Given the description of an element on the screen output the (x, y) to click on. 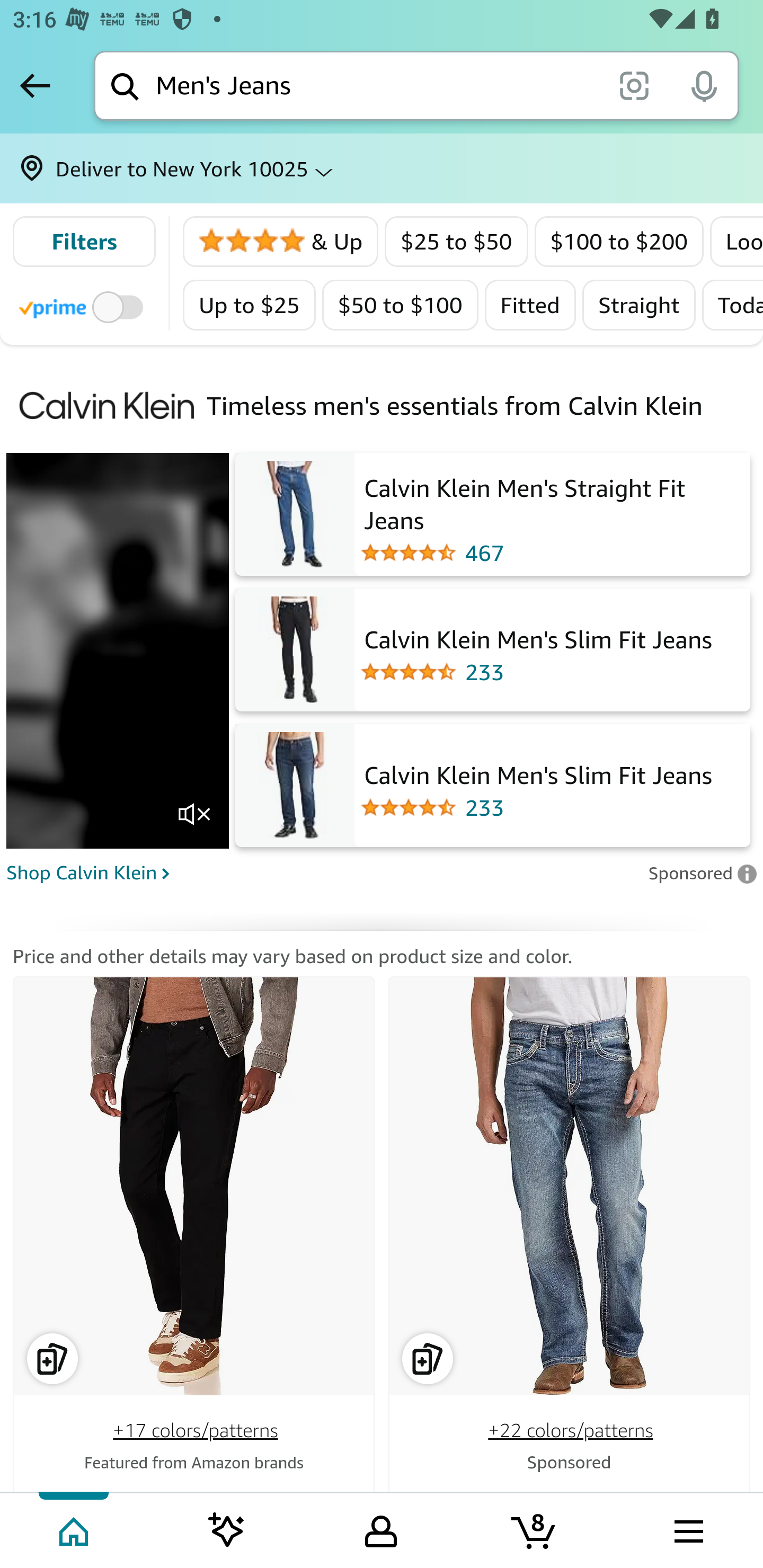
Back (35, 85)
scan it (633, 85)
Deliver to New York 10025 ⌵ (381, 168)
Filters (83, 241)
4 Stars & Up (281, 241)
$25 to $50 (456, 241)
$100 to $200 (619, 241)
Toggle to filter by Prime products Prime Eligible (83, 306)
Up to $25 (249, 304)
$50 to $100 (399, 304)
Fitted (529, 304)
Straight (638, 304)
Timeless men's essentials from Calvin Klein (455, 404)
Calvin Klein Men's Straight Fit Jeans (551, 501)
467 (551, 552)
Calvin Klein Men's Slim Fit Jeans (535, 637)
233 (535, 672)
Calvin Klein Men's Slim Fit Jeans (535, 772)
Mute Sponsored Video (193, 814)
233 (535, 807)
Shop Calvin Klein  Shop Calvin  Klein  (321, 870)
Leave feedback on Sponsored ad (701, 872)
+17 colors/patterns (195, 1429)
+22 colors/patterns (570, 1429)
Home Tab 1 of 5 (75, 1529)
Inspire feed Tab 2 of 5 (227, 1529)
Your Amazon.com Tab 3 of 5 (380, 1529)
Cart 8 items Tab 4 of 5 8 (534, 1529)
Browse menu Tab 5 of 5 (687, 1529)
